Given the description of an element on the screen output the (x, y) to click on. 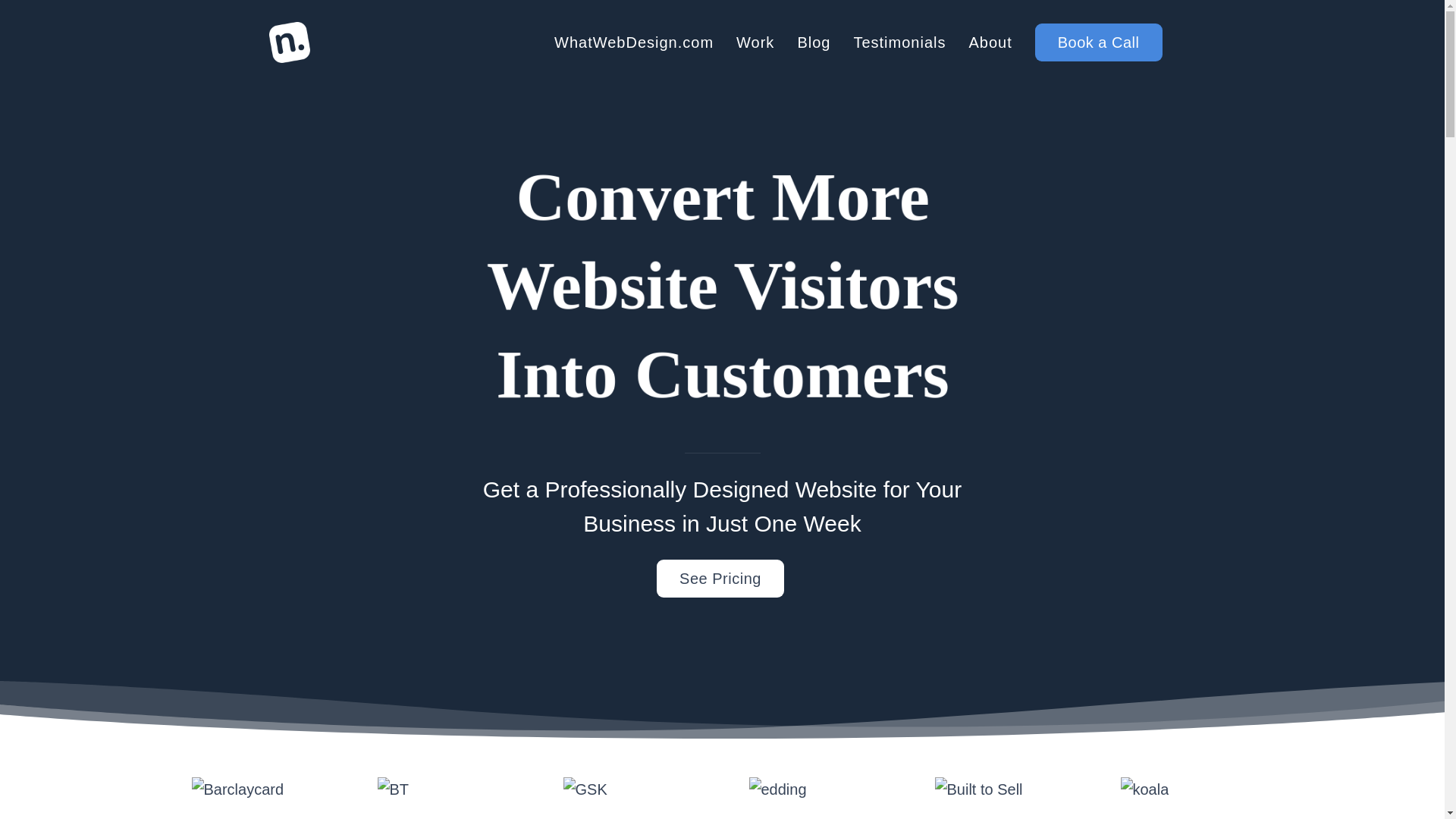
See Pricing (720, 579)
WhatWebDesign.com (634, 42)
Testimonials (898, 42)
Book a Call (1098, 42)
